Given the description of an element on the screen output the (x, y) to click on. 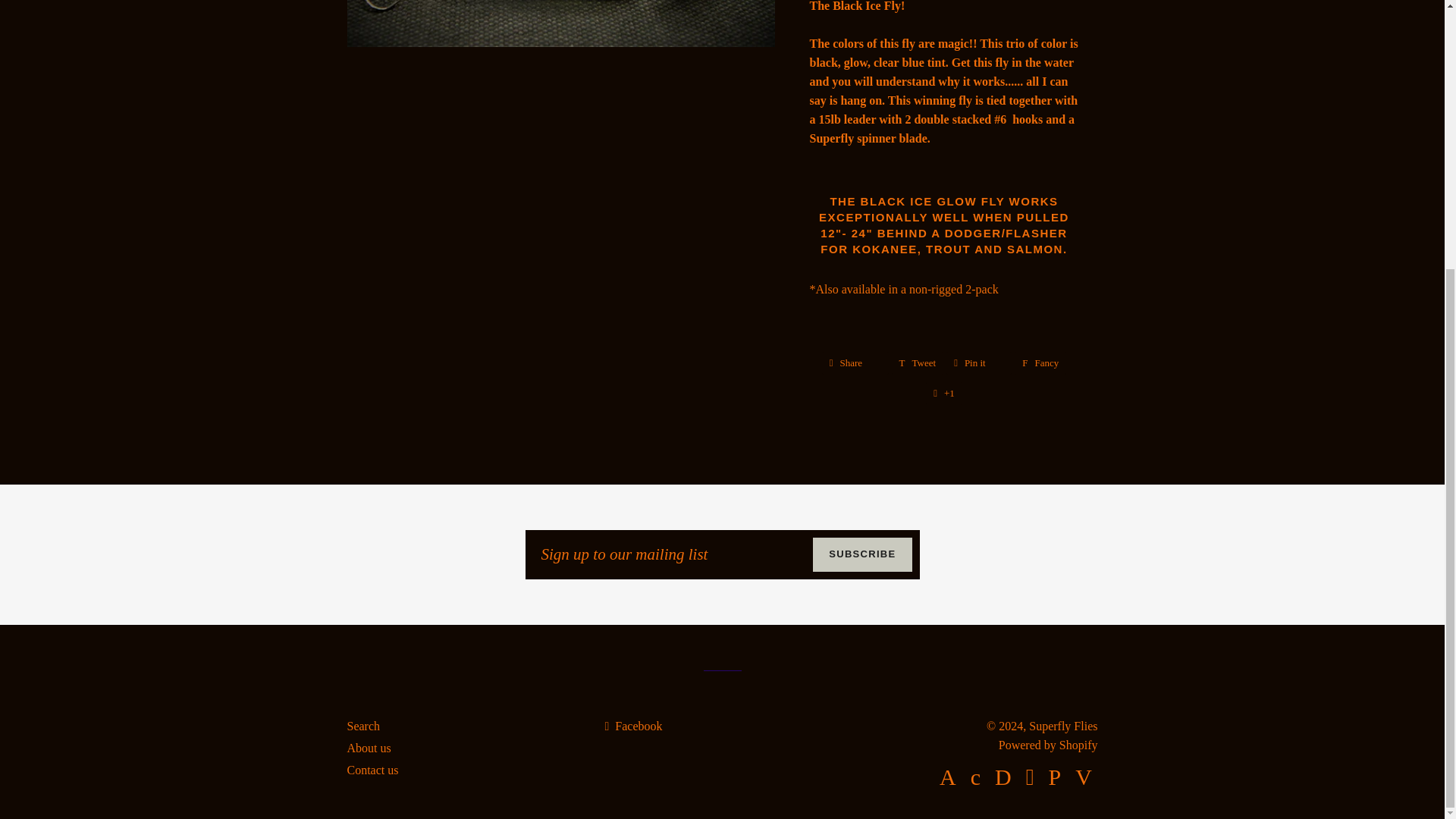
Tweet on Twitter (917, 363)
Share on Facebook (855, 363)
Superfly Flies on Facebook (633, 725)
Pin on Pinterest (978, 363)
Add to Fancy (1039, 363)
